Given the description of an element on the screen output the (x, y) to click on. 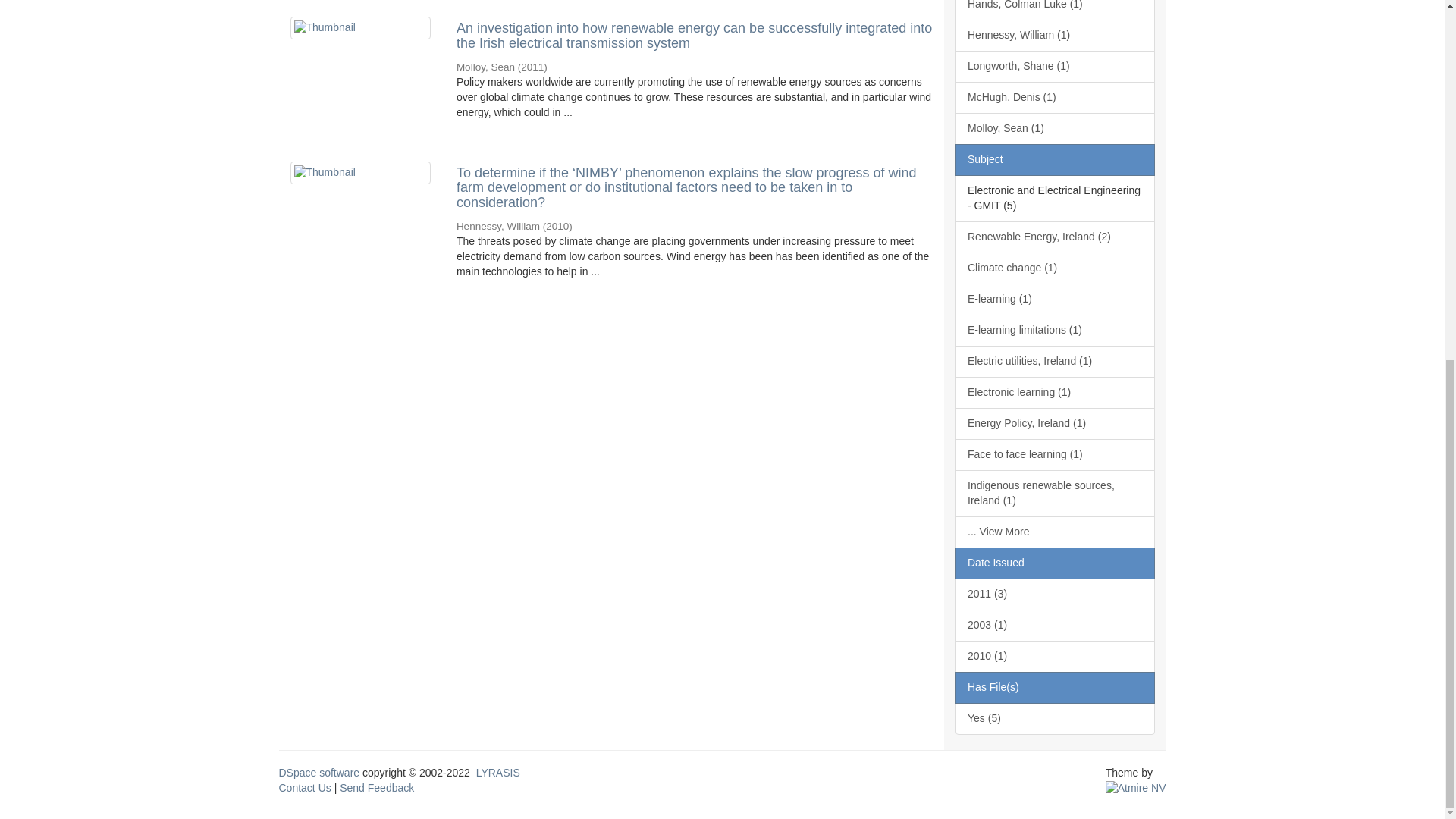
Atmire NV (1135, 787)
